Given the description of an element on the screen output the (x, y) to click on. 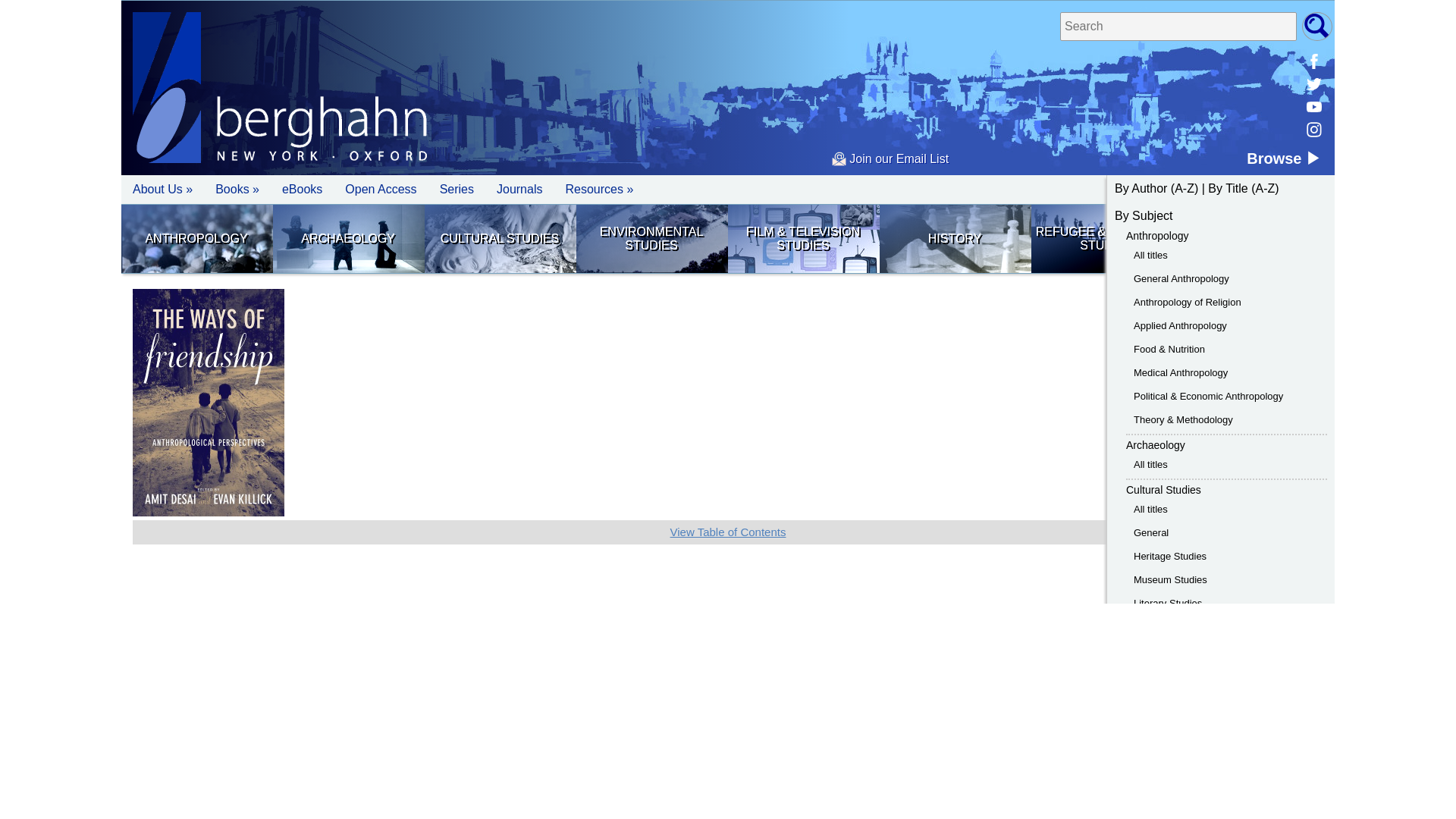
Berghahn Books on Facebook (1313, 60)
Cultural Studies (500, 238)
Museum Studies (1170, 579)
By Subject (1143, 215)
All titles (1150, 464)
General (1151, 532)
All titles (1150, 255)
Browse (1283, 158)
Sociology (1258, 238)
go (1316, 26)
